Given the description of an element on the screen output the (x, y) to click on. 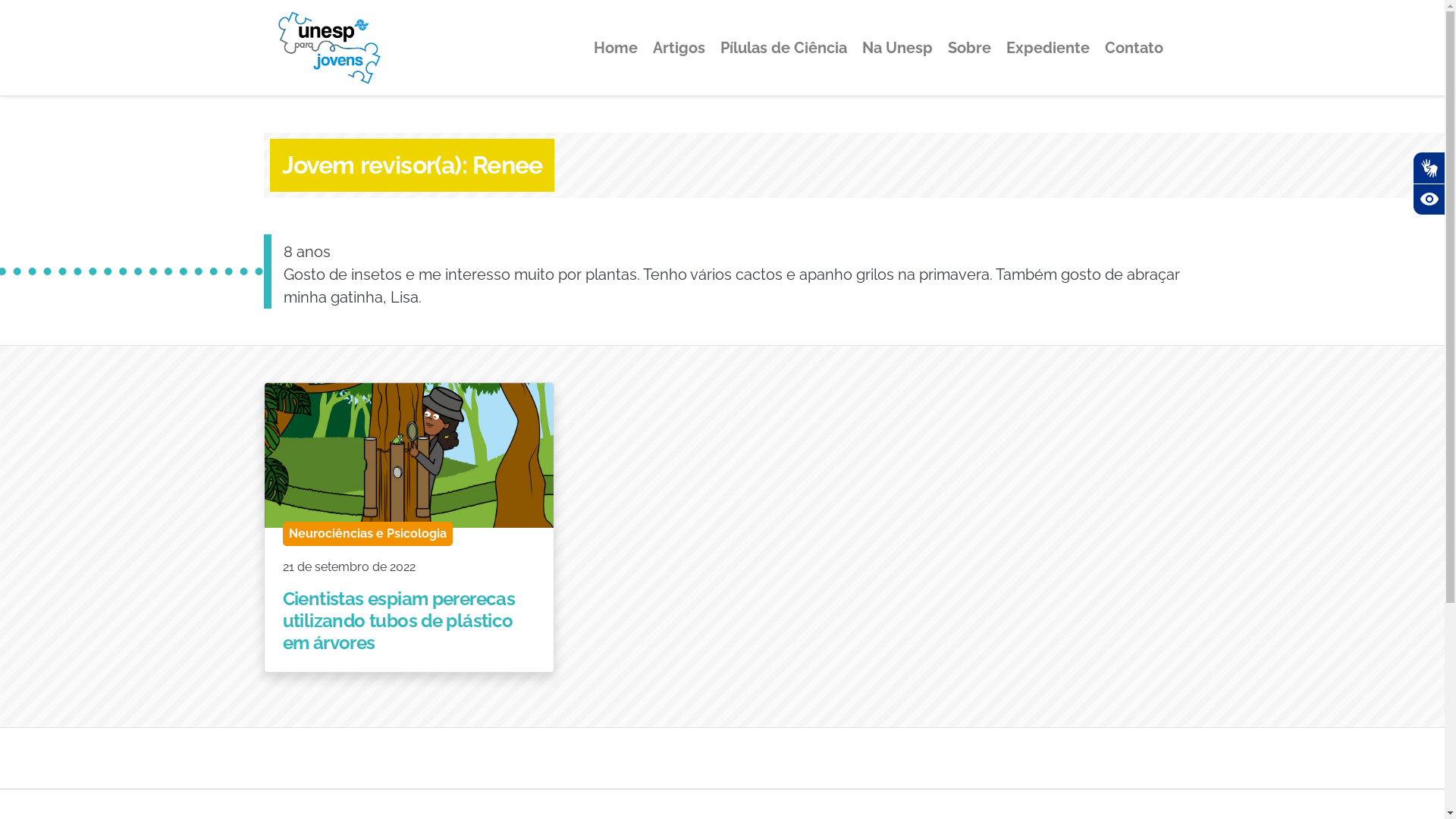
Expediente Element type: text (1047, 47)
Artigos Element type: text (678, 47)
Contato Element type: text (1133, 47)
Home Element type: text (614, 47)
Na Unesp Element type: text (896, 47)
Sobre Element type: text (969, 47)
